Given the description of an element on the screen output the (x, y) to click on. 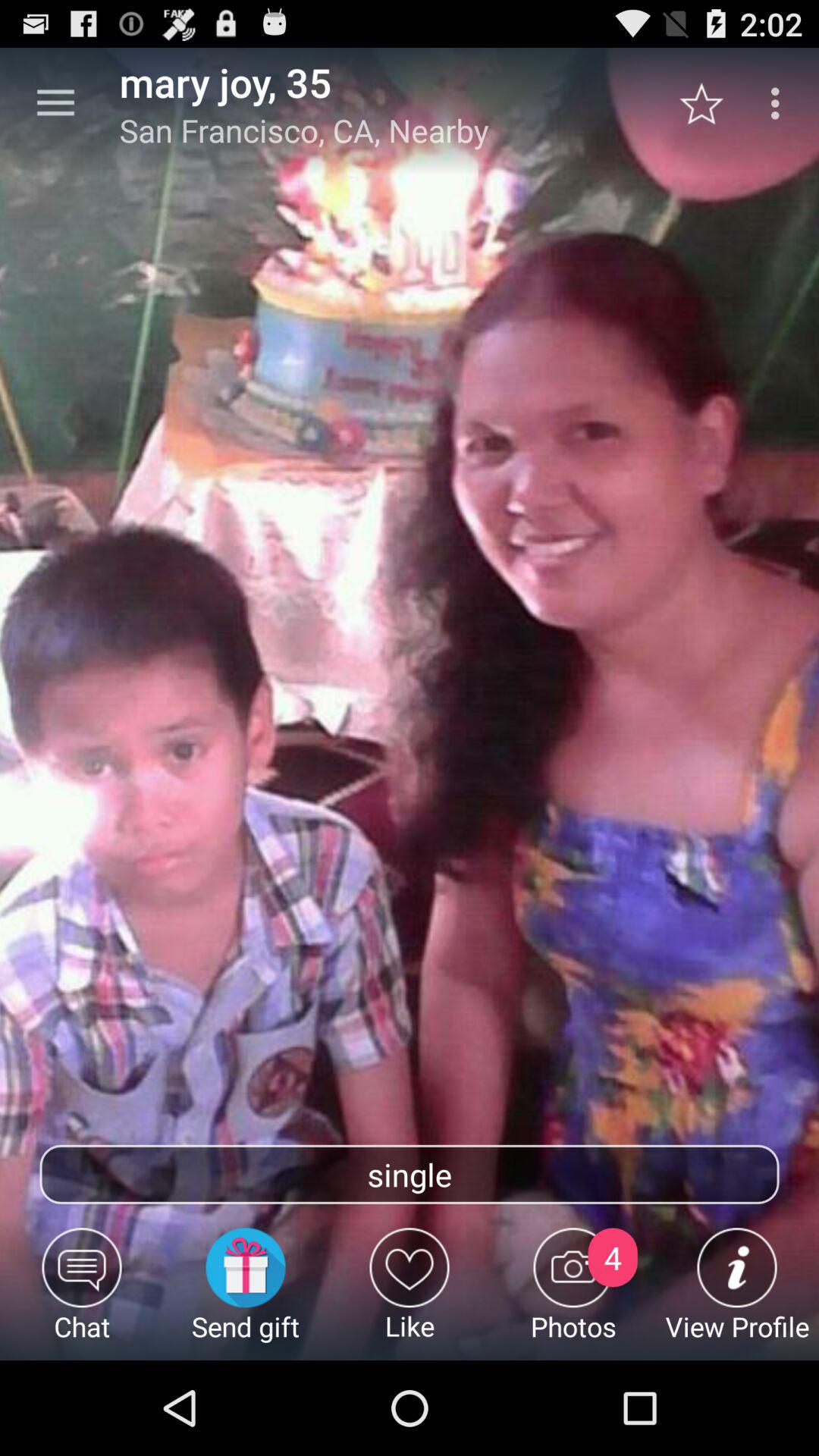
turn on the icon next to like (245, 1293)
